Given the description of an element on the screen output the (x, y) to click on. 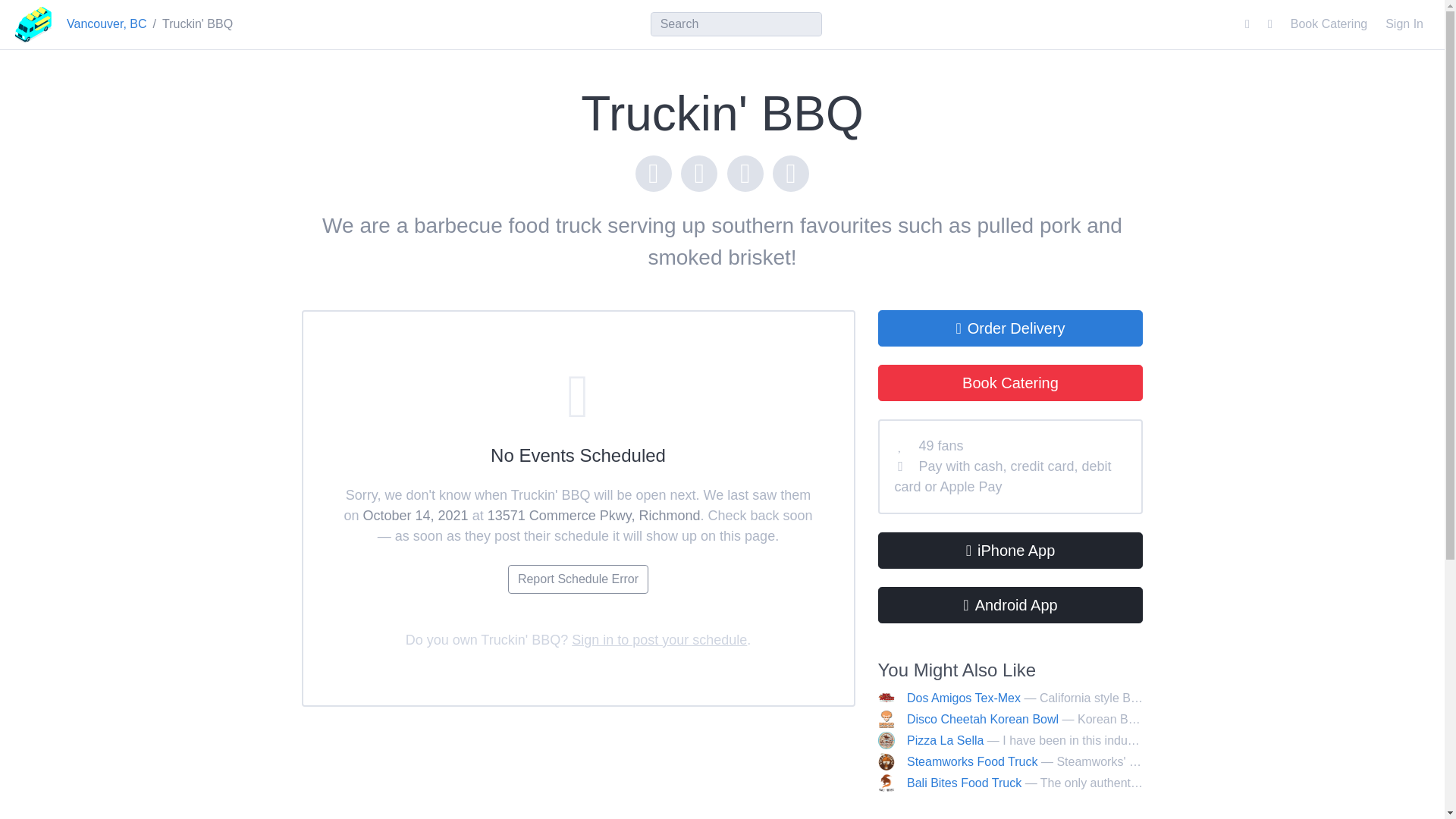
Book Catering (1328, 24)
Book Catering (1009, 382)
Disco Cheetah Korean Bowl (982, 718)
Pizza La Sella (945, 739)
Sign in to post your schedule (659, 639)
iPhone App (1009, 550)
Steamworks Food Truck (972, 761)
Bali Bites Food Truck (964, 782)
Vancouver, BC (106, 23)
Report Schedule Error (577, 579)
